Given the description of an element on the screen output the (x, y) to click on. 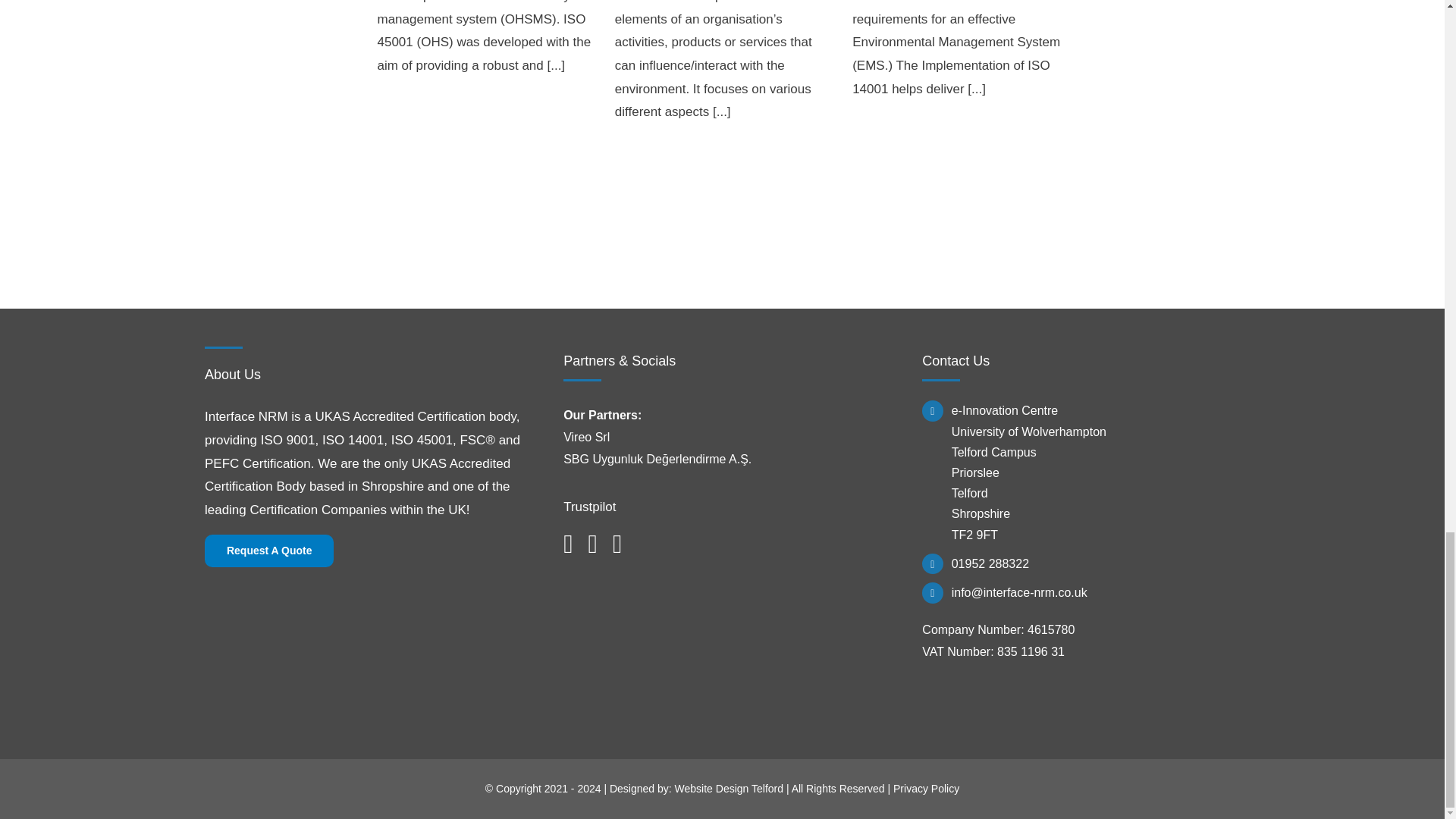
Facebook (567, 544)
Twitter (592, 544)
LinkedIn (616, 544)
